Given the description of an element on the screen output the (x, y) to click on. 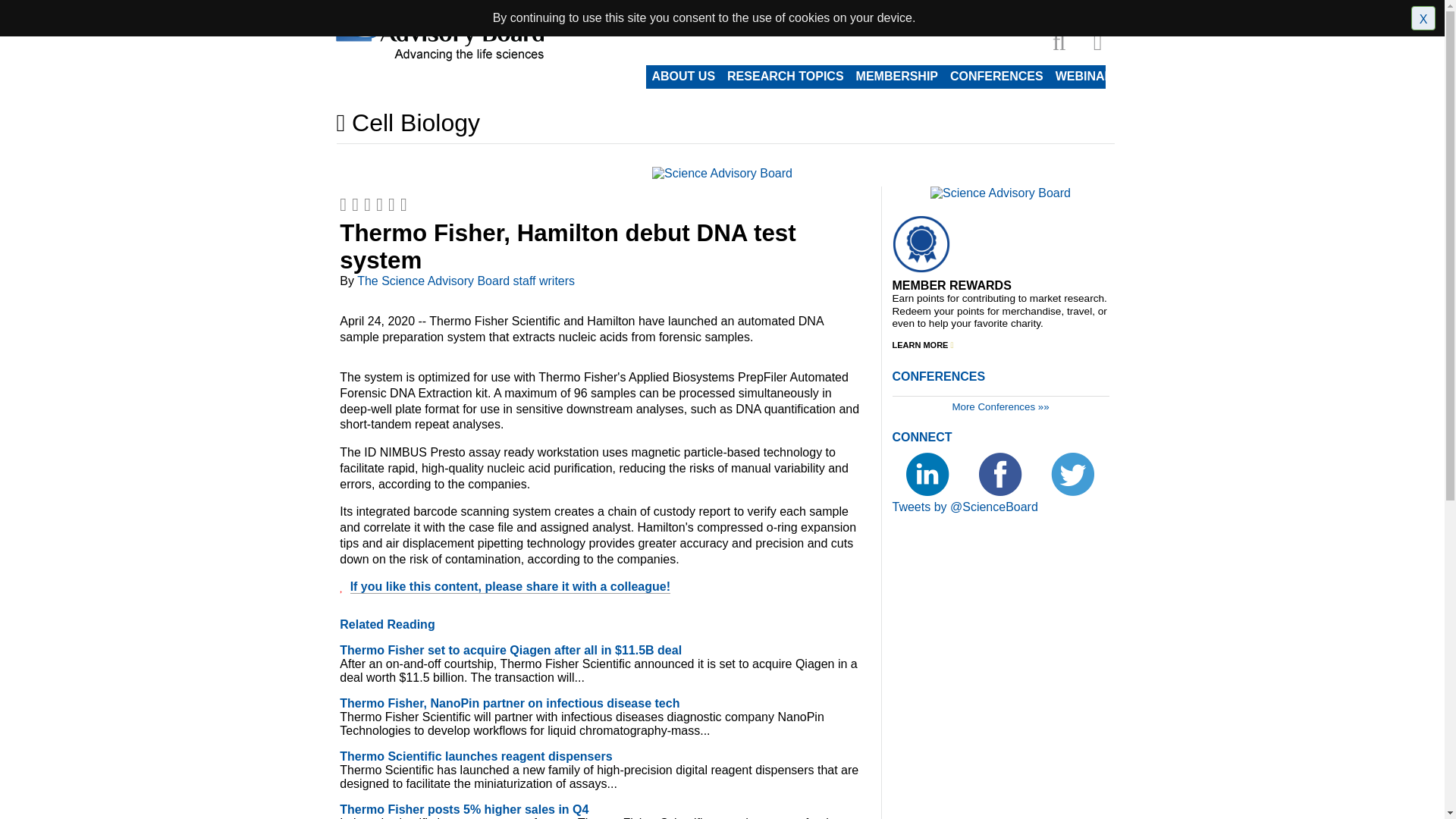
ABOUT US (684, 76)
Science Advisory Board (722, 173)
Thermo Fisher, Hamilton debut DNA test system (566, 246)
Member Sign In (1013, 8)
Rewards (1083, 8)
The Science Advisory Board staff writers (465, 280)
Subscribe Now (931, 8)
RESEARCH TOPICS (785, 76)
CONFERENCES (996, 76)
If you like this content, please share it with a colleague! (509, 586)
